Given the description of an element on the screen output the (x, y) to click on. 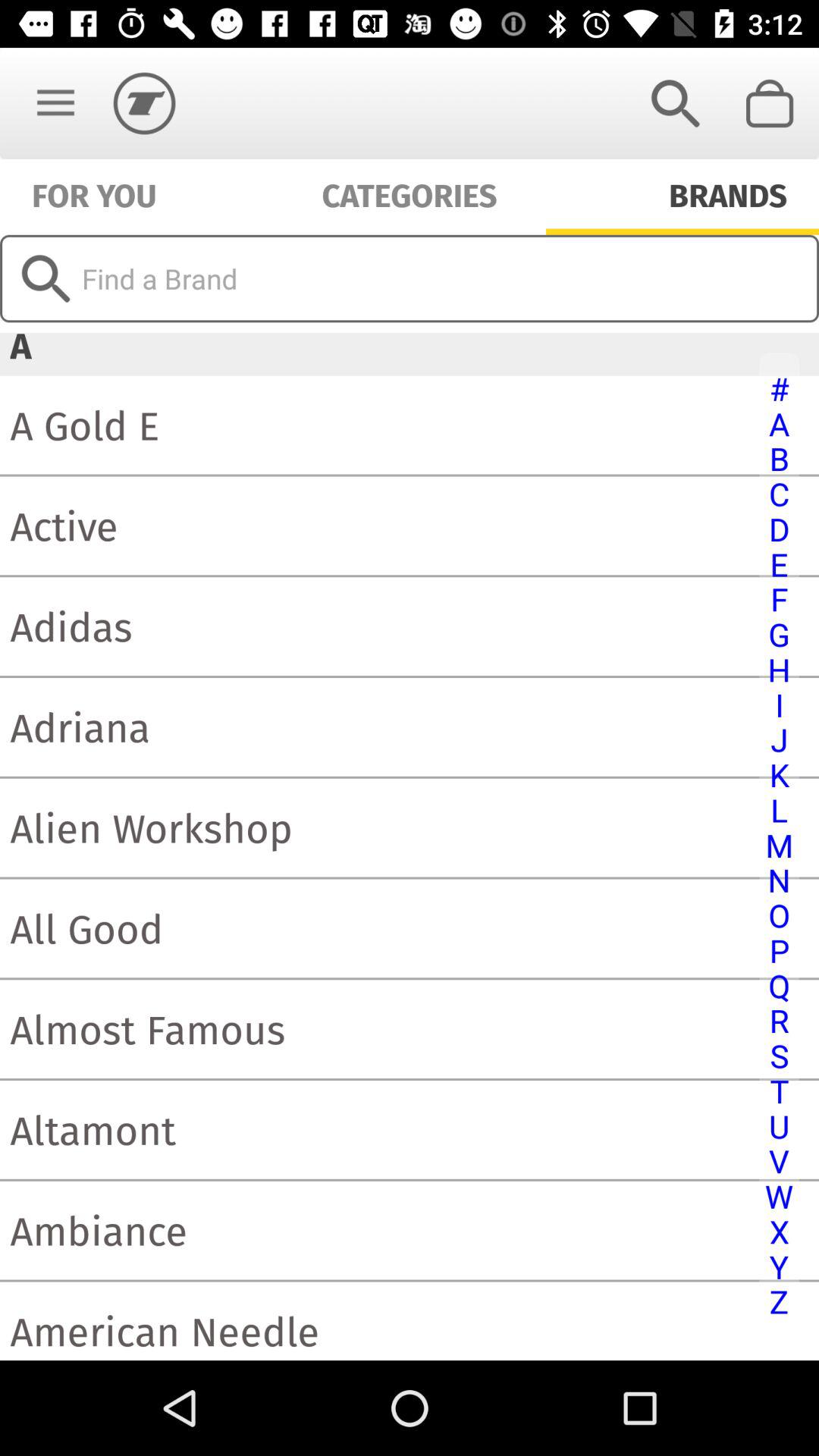
click for you item (93, 193)
